Given the description of an element on the screen output the (x, y) to click on. 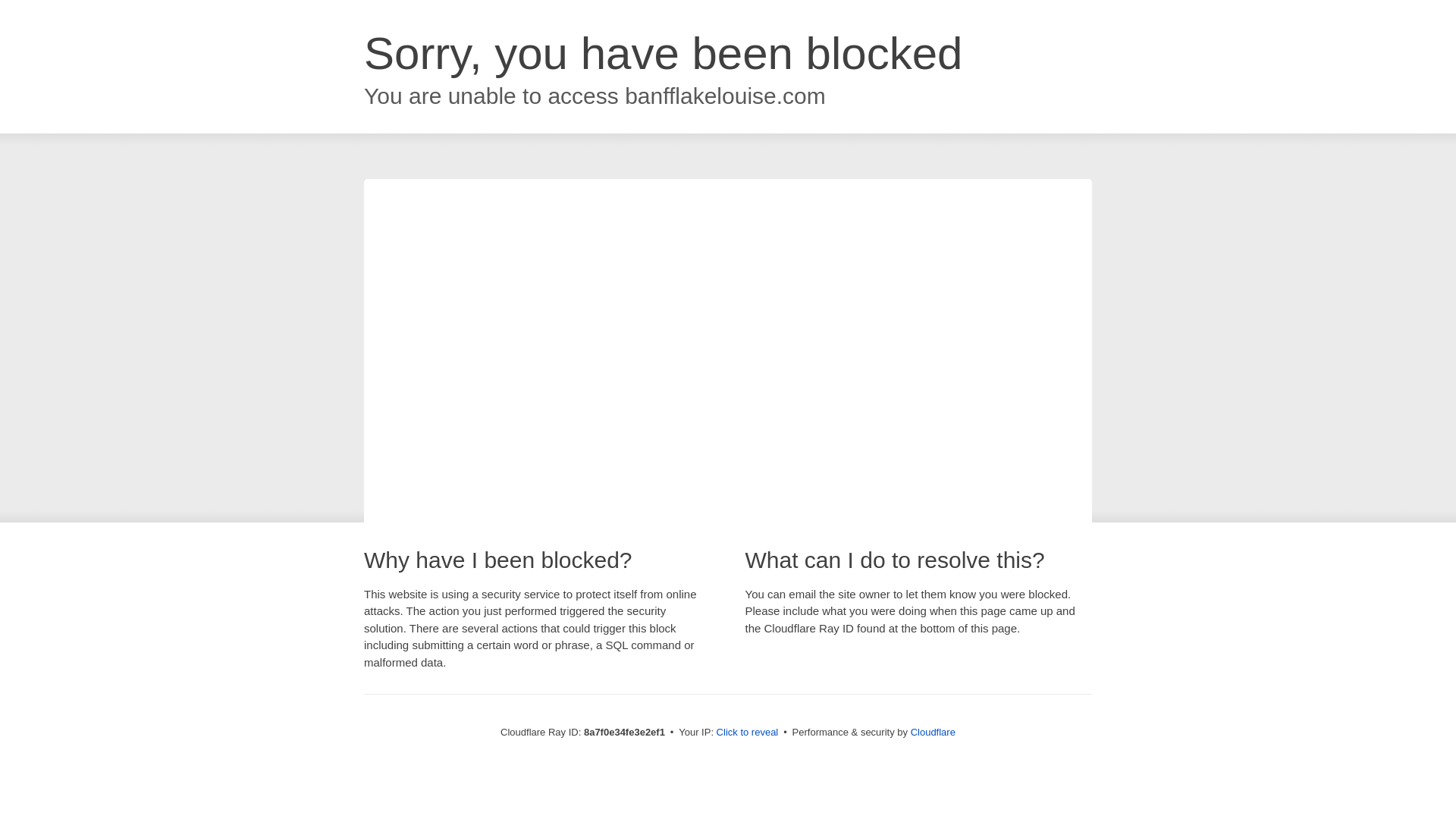
Cloudflare (933, 731)
Click to reveal (747, 732)
